Given the description of an element on the screen output the (x, y) to click on. 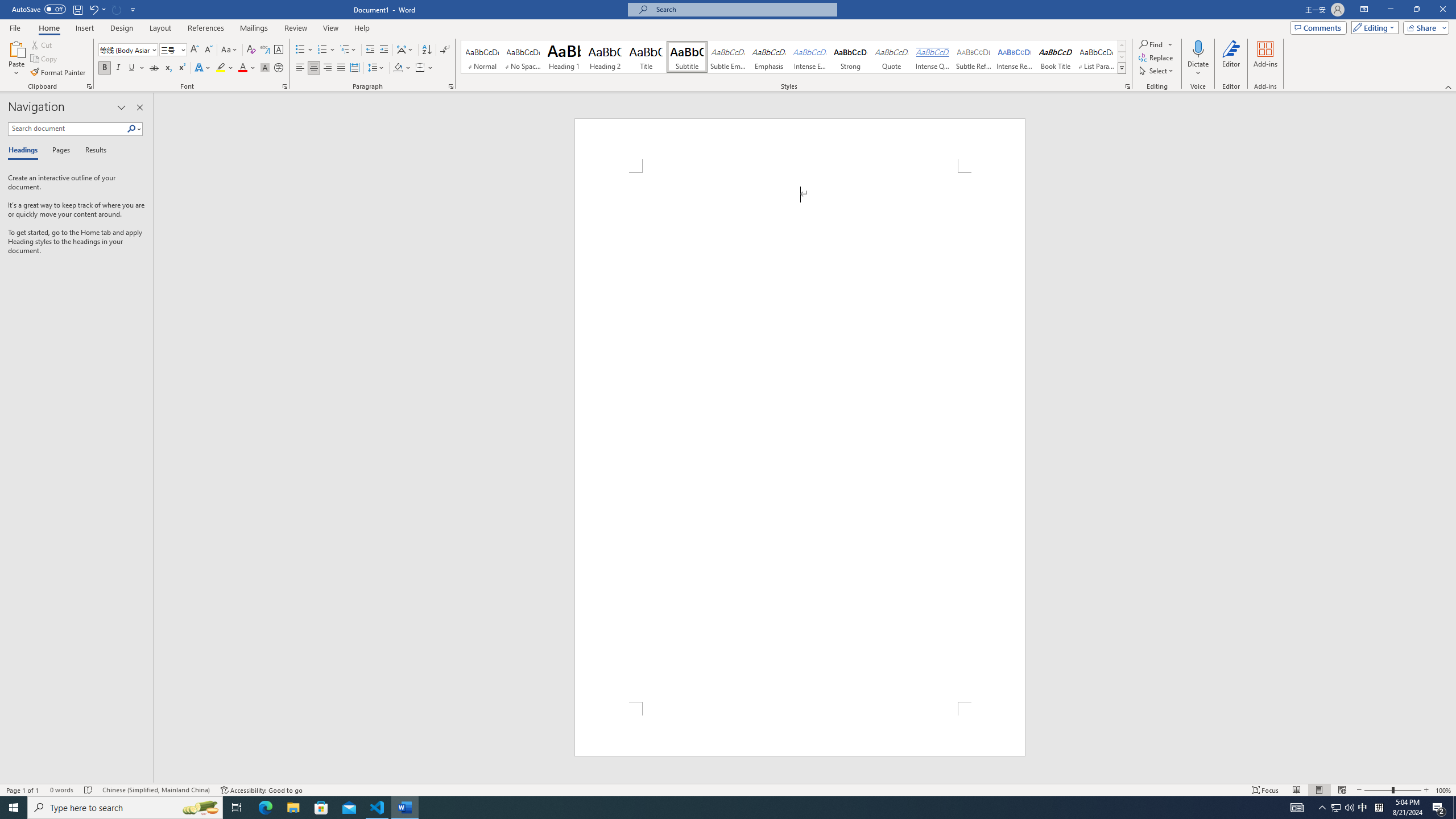
Quote (891, 56)
Undo Apply Quick Style (96, 9)
